Given the description of an element on the screen output the (x, y) to click on. 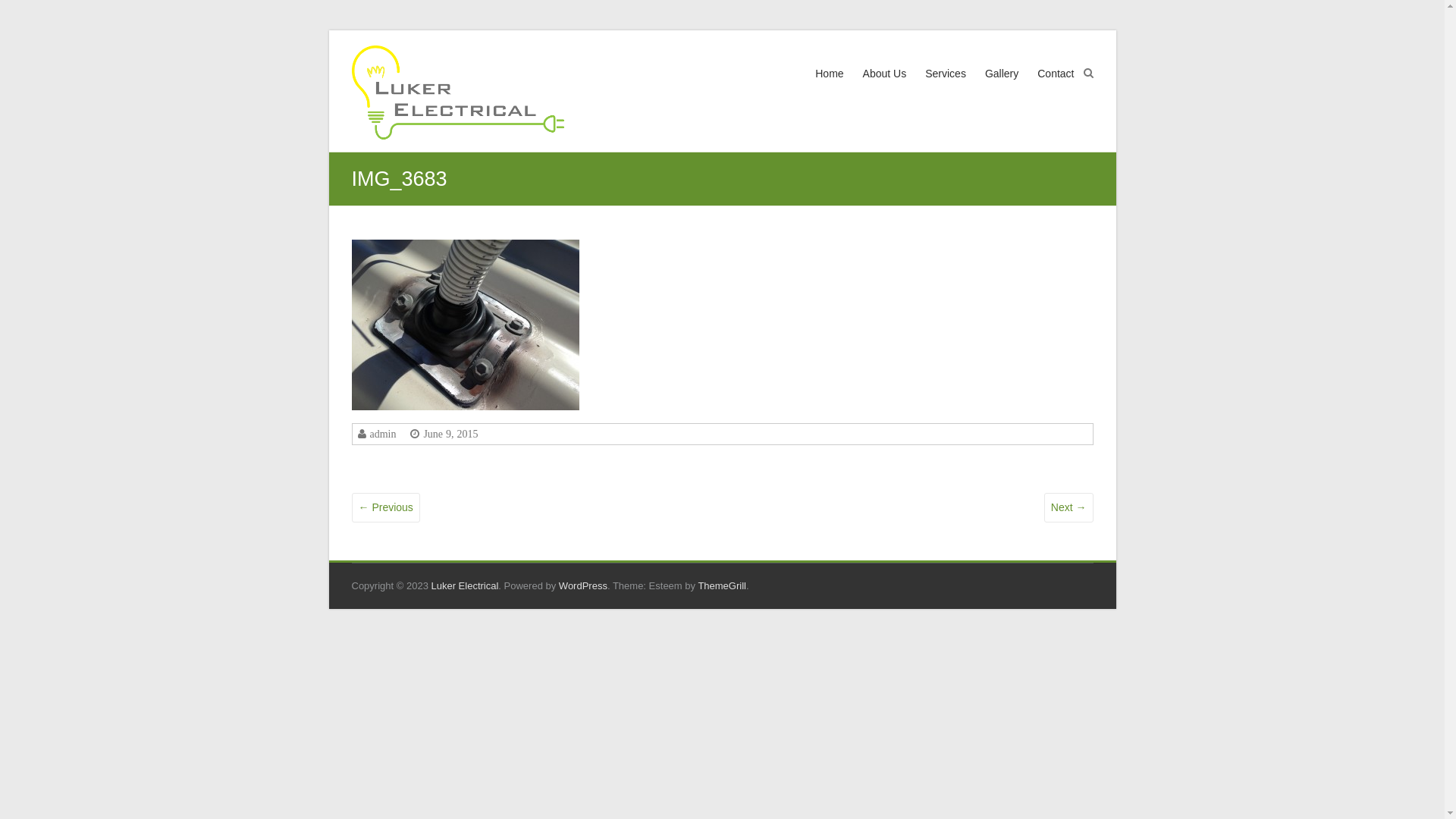
admin Element type: text (380, 433)
Luker Electrical Element type: hover (457, 94)
Services Element type: text (945, 87)
Home Element type: text (829, 87)
Luker Electrical Element type: text (464, 585)
Gallery Element type: text (1001, 87)
ThemeGrill Element type: text (721, 585)
Contact Element type: text (1055, 87)
June 9, 2015 Element type: text (448, 433)
WordPress Element type: text (582, 585)
About Us Element type: text (884, 87)
